Given the description of an element on the screen output the (x, y) to click on. 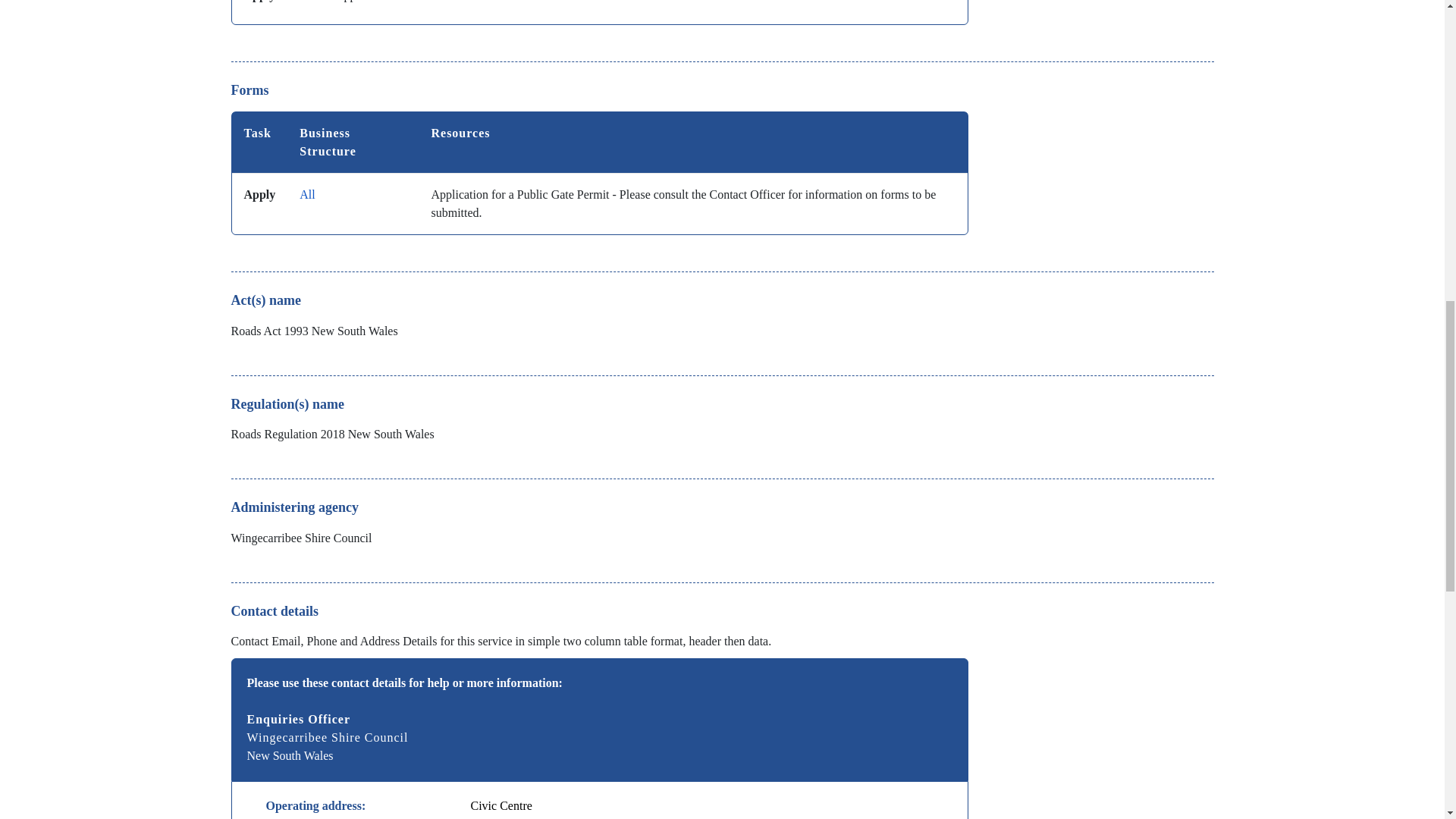
Form resources for this service (599, 173)
Contact Details for this service (599, 738)
All (306, 194)
Fees for this service (599, 12)
